Given the description of an element on the screen output the (x, y) to click on. 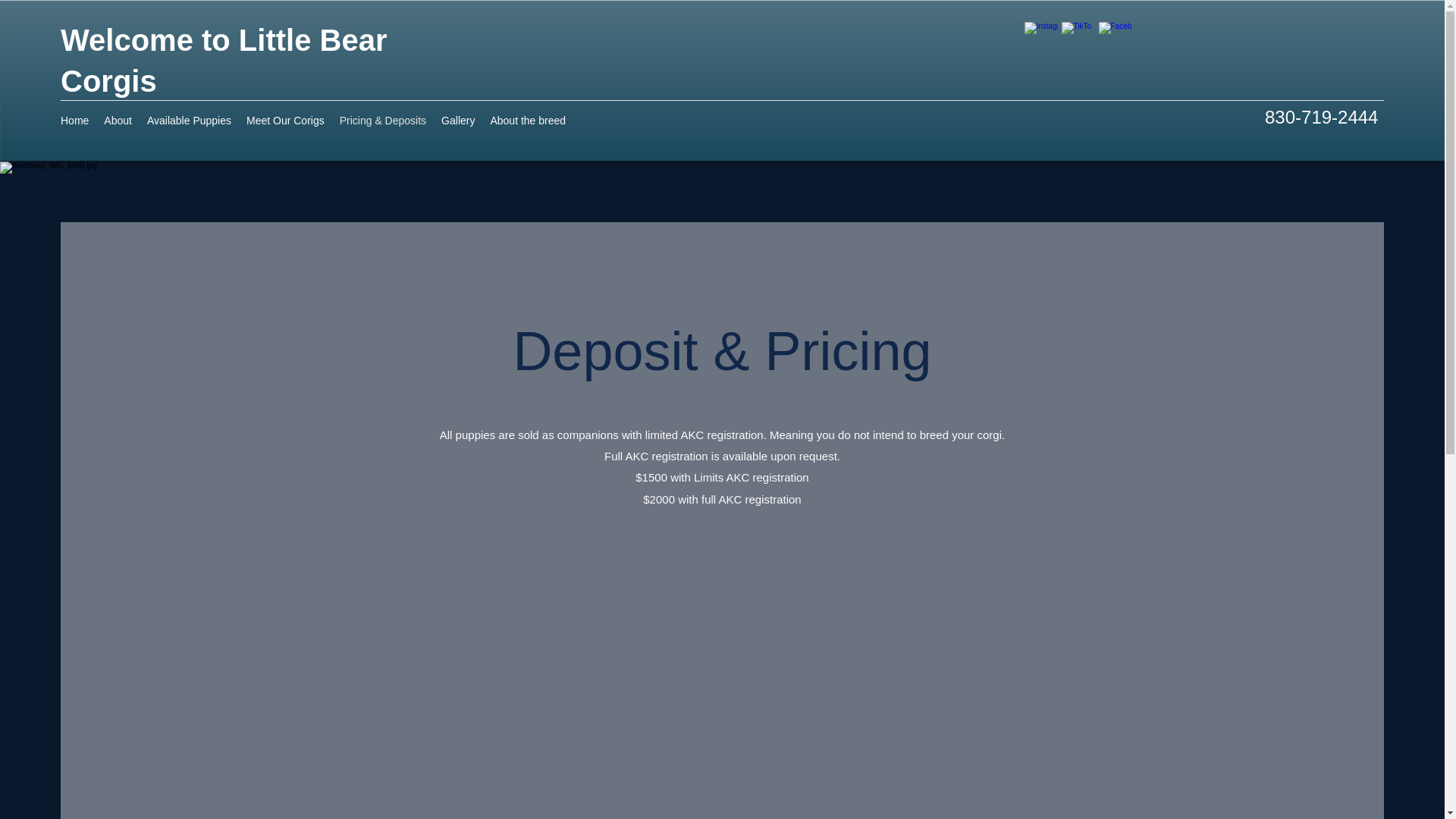
About the breed (527, 122)
Available Puppies (188, 122)
Meet Our Corigs (284, 122)
Gallery (457, 122)
Home (74, 122)
About (117, 122)
